Given the description of an element on the screen output the (x, y) to click on. 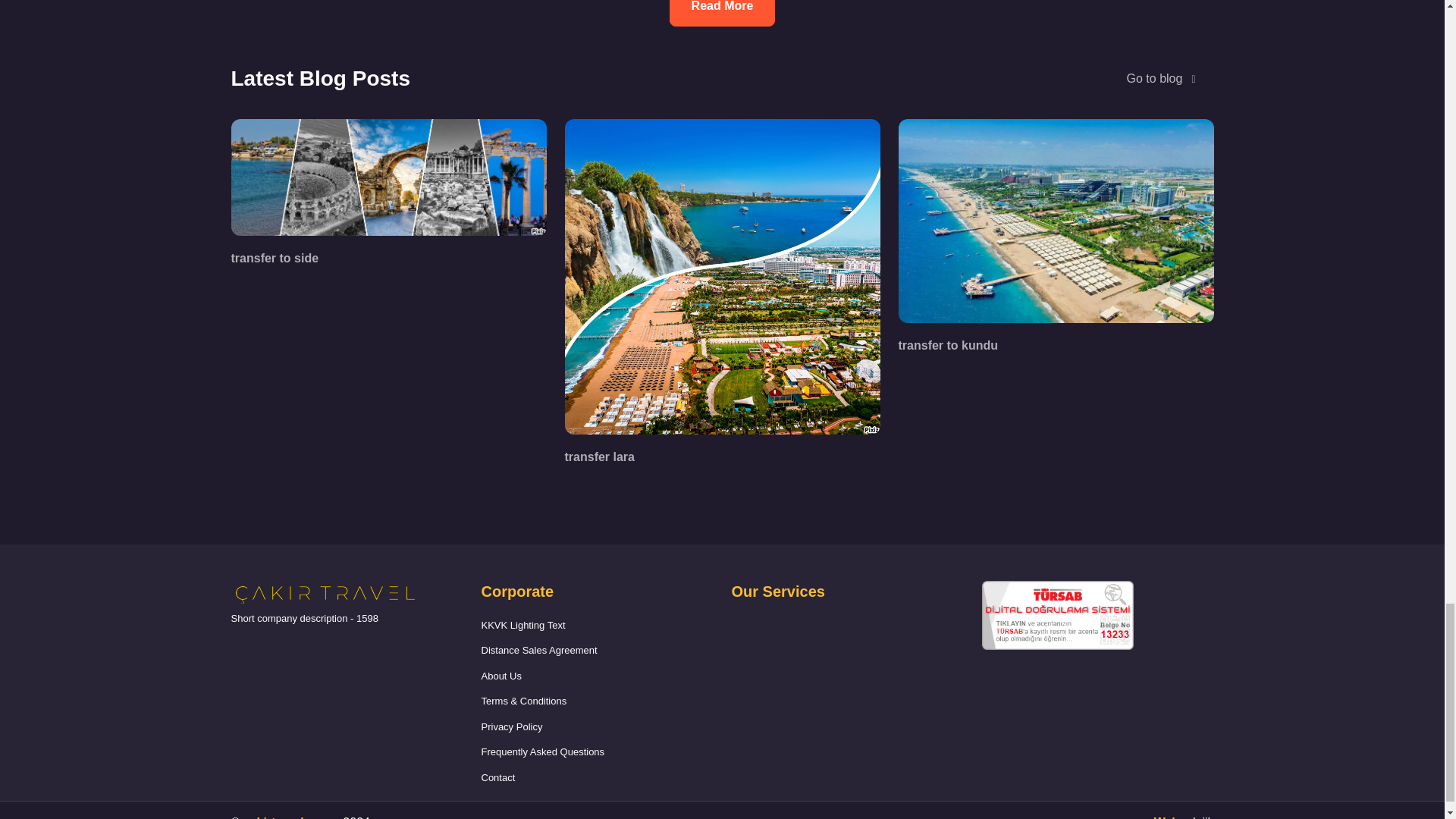
Read More (722, 12)
Go to blog (1161, 79)
